Given the description of an element on the screen output the (x, y) to click on. 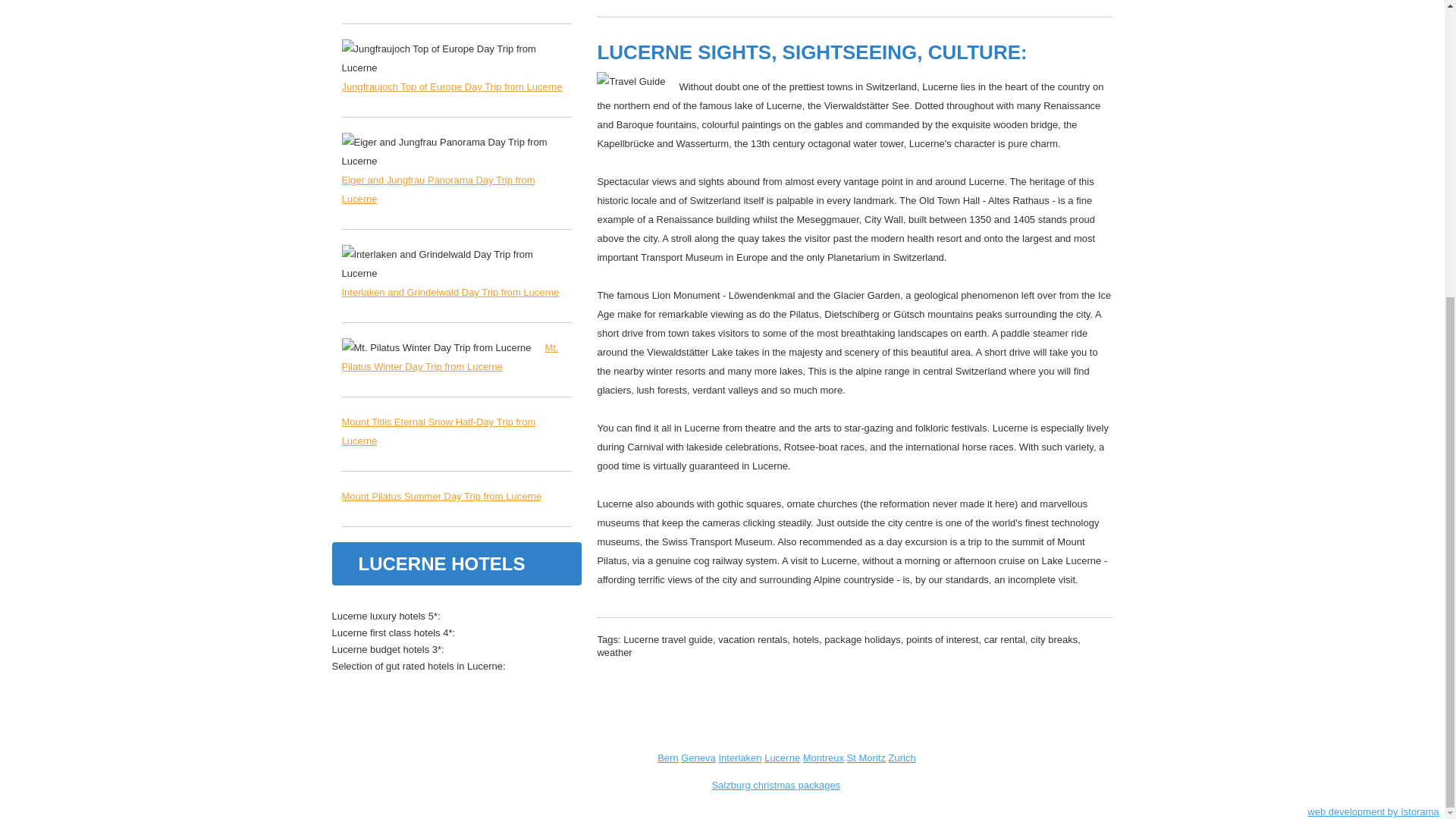
Eiger and Jungfrau Panorama Day Trip from Lucerne (437, 189)
Mt. Pilatus Winter Day Trip from Lucerne (448, 357)
St Moritz (866, 757)
Bern (668, 757)
Jungfraujoch Top of Europe Day Trip from Lucerne (451, 86)
web development by Istorama (1372, 811)
Mount Pilatus Summer Day Trip from Lucerne (440, 496)
Geneva (698, 757)
Salzburg christmas packages (775, 785)
Zurich (901, 757)
